Given the description of an element on the screen output the (x, y) to click on. 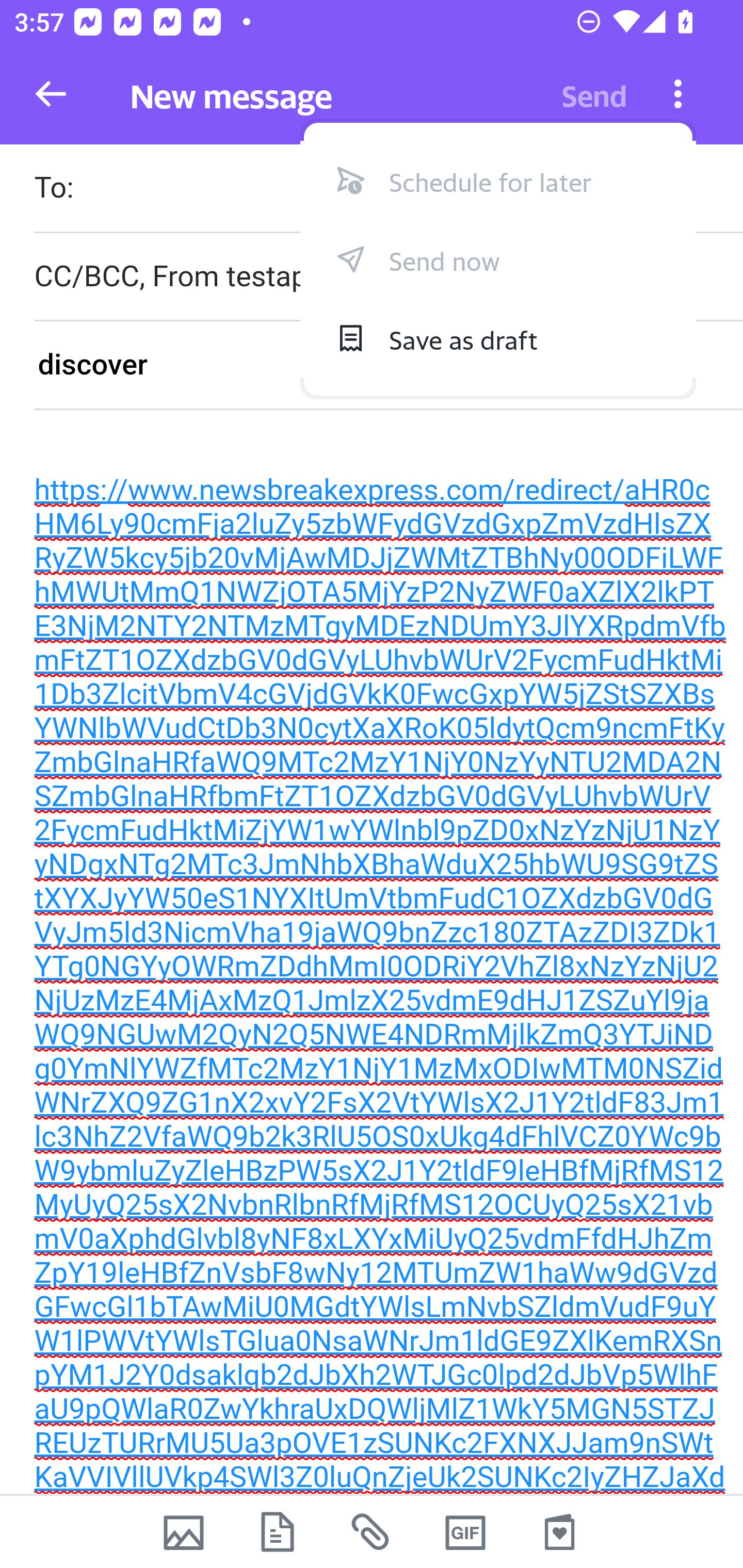
Schedule for later (498, 180)
Send now (498, 258)
Save as draft (498, 337)
